Given the description of an element on the screen output the (x, y) to click on. 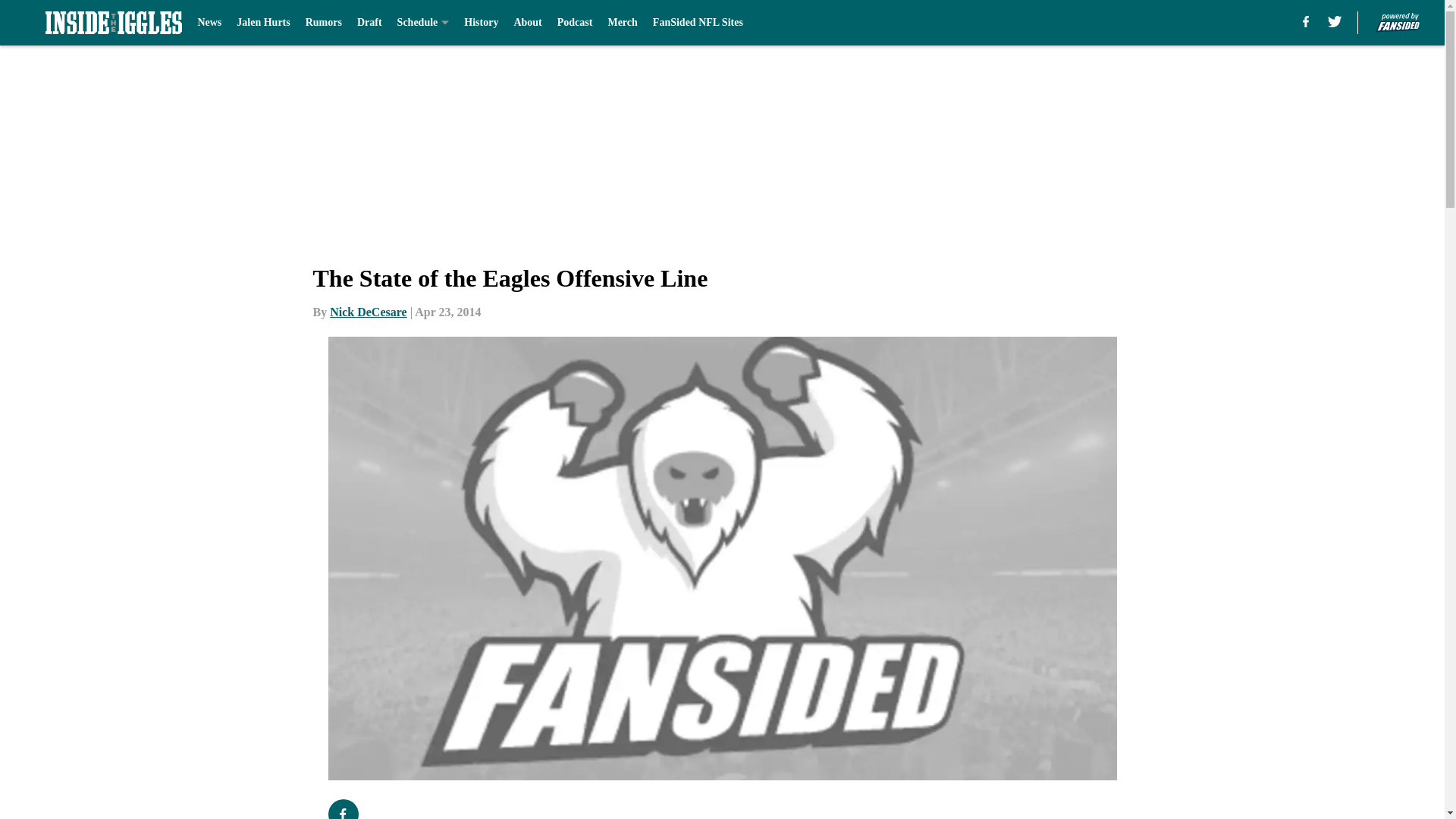
Podcast (574, 22)
Jalen Hurts (262, 22)
Merch (622, 22)
FanSided NFL Sites (697, 22)
About (527, 22)
Draft (368, 22)
Rumors (323, 22)
Nick DeCesare (368, 311)
News (208, 22)
History (480, 22)
